Given the description of an element on the screen output the (x, y) to click on. 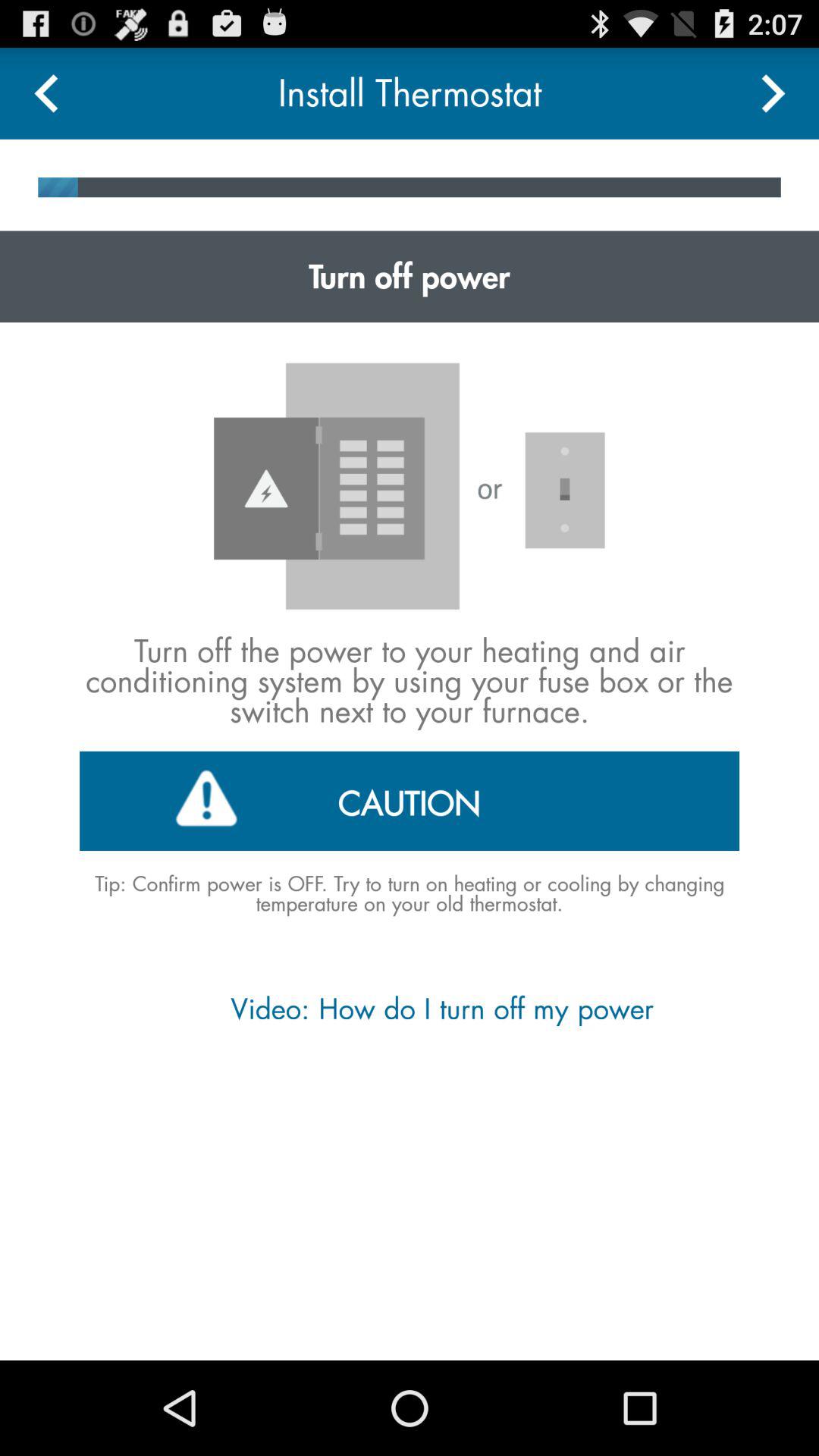
swipe until the video how do app (408, 1008)
